Given the description of an element on the screen output the (x, y) to click on. 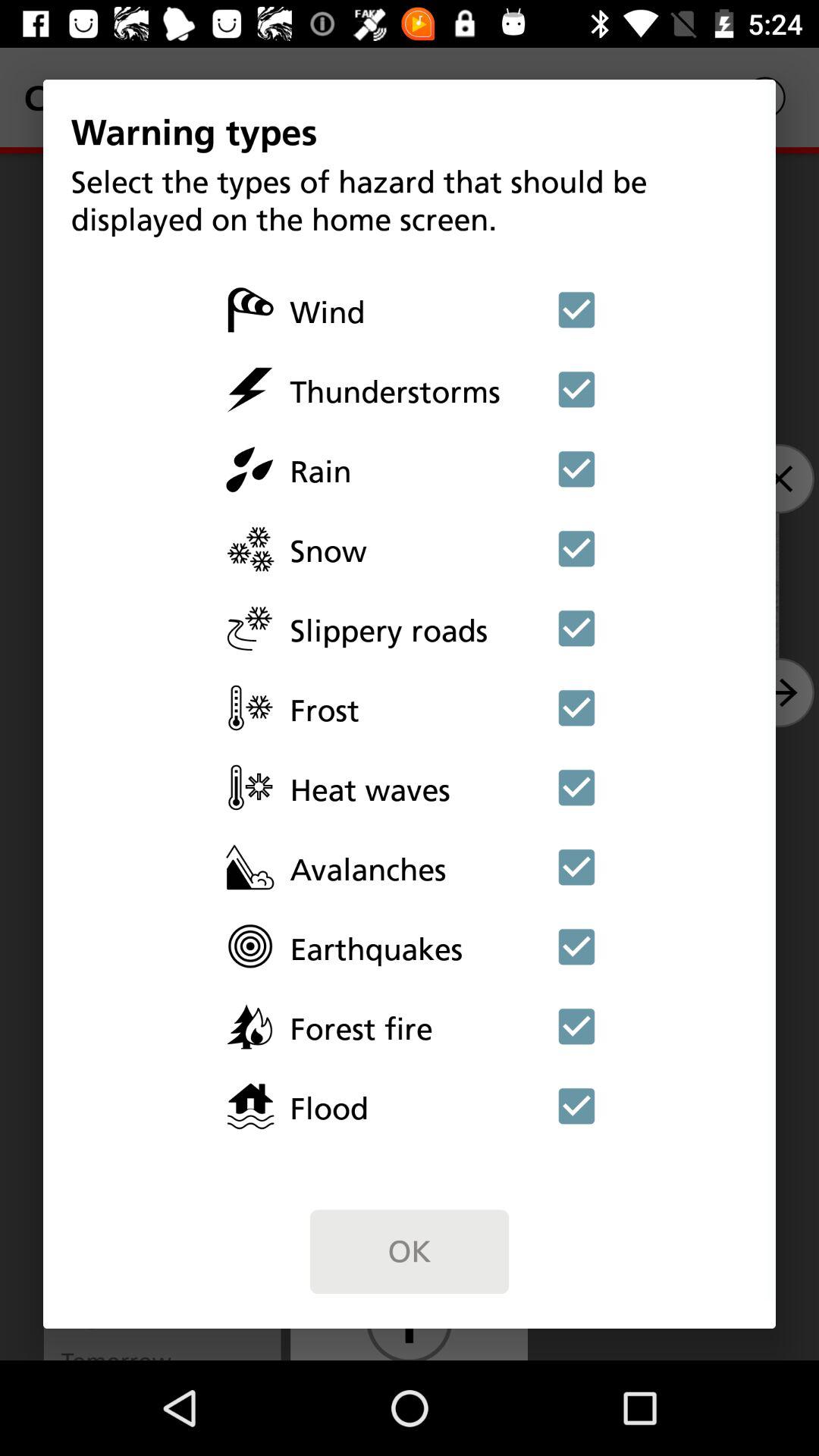
deselect heat waves (576, 787)
